Given the description of an element on the screen output the (x, y) to click on. 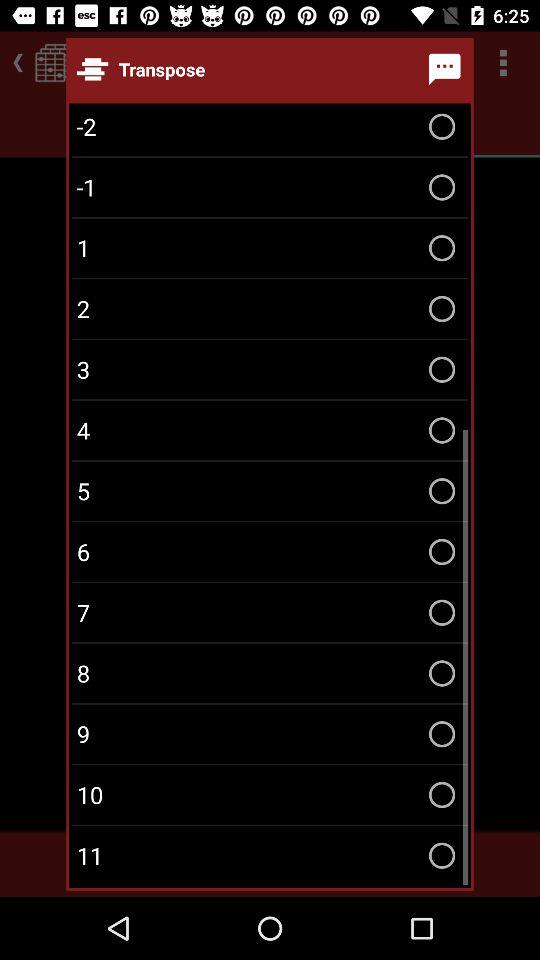
launch 8 (269, 673)
